Given the description of an element on the screen output the (x, y) to click on. 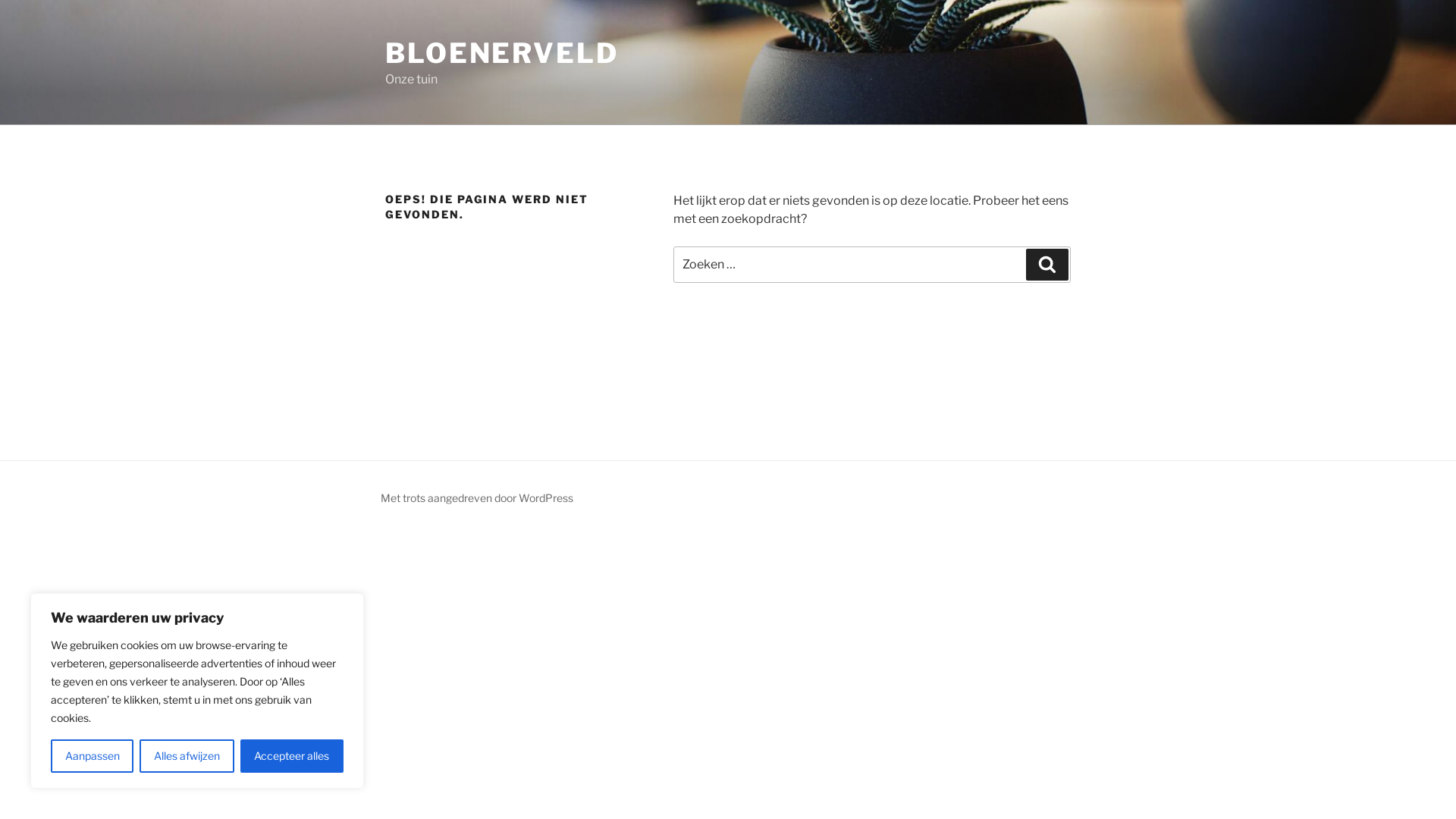
BLOENERVELD Element type: text (501, 52)
Aanpassen Element type: text (91, 755)
Accepteer alles Element type: text (291, 755)
Zoeken Element type: text (1047, 264)
Met trots aangedreven door WordPress Element type: text (476, 497)
Alles afwijzen Element type: text (186, 755)
